Given the description of an element on the screen output the (x, y) to click on. 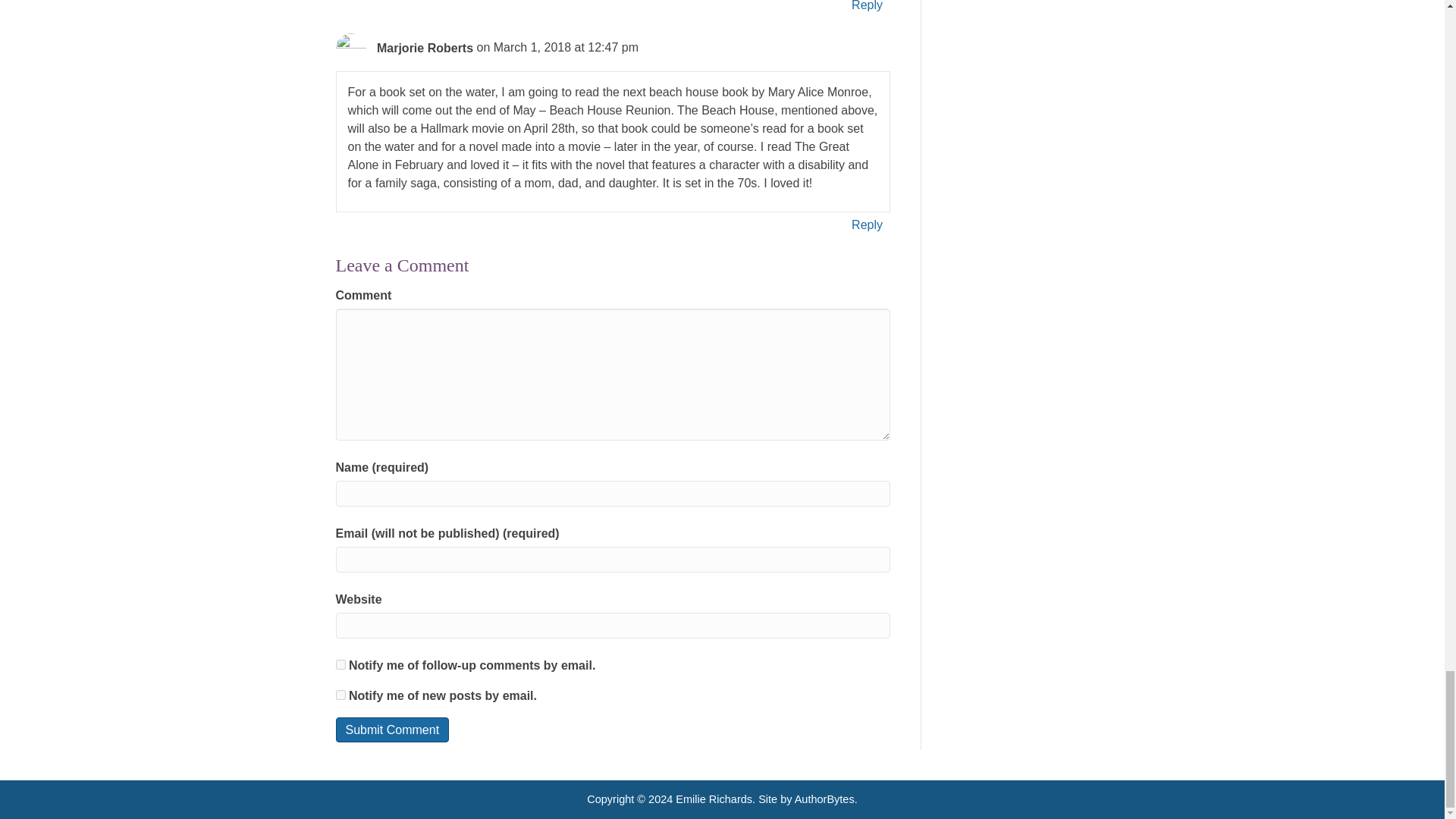
Submit Comment (391, 729)
subscribe (339, 664)
subscribe (339, 695)
